Given the description of an element on the screen output the (x, y) to click on. 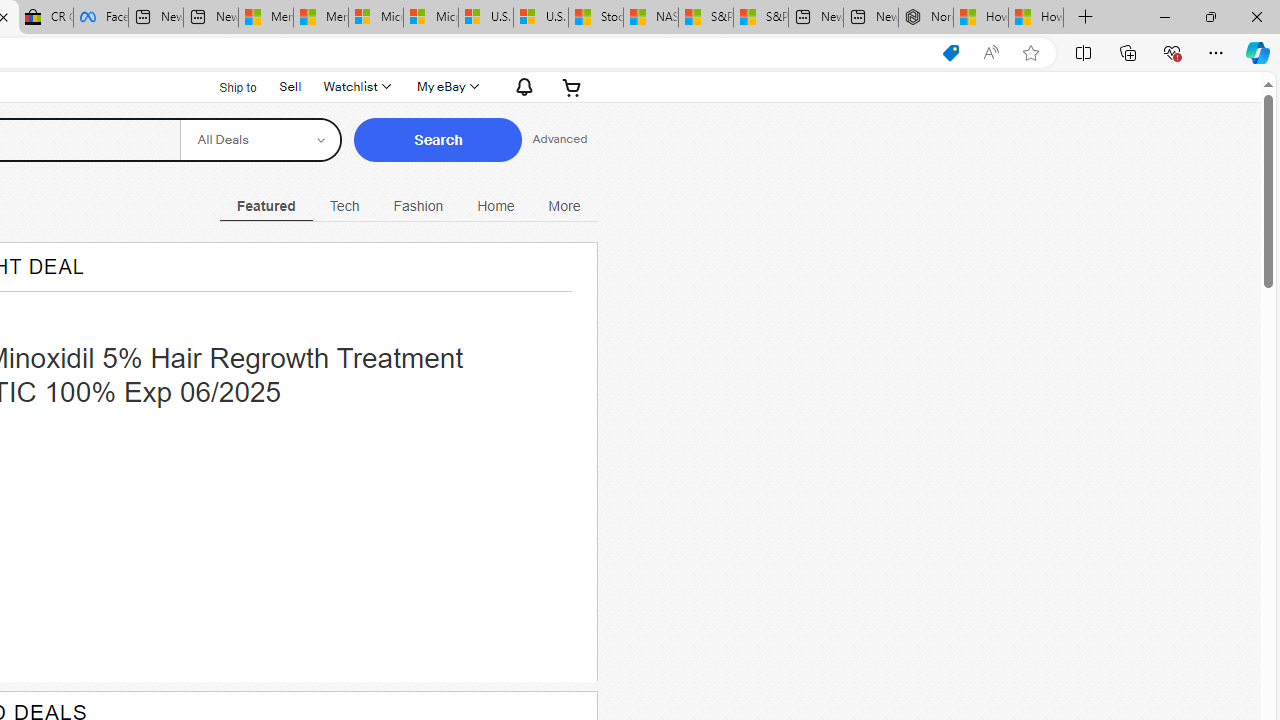
Class: ebayui-refit-nav-ul (407, 203)
My eBay (445, 86)
More (564, 205)
How to Use a Monitor With Your Closed Laptop (1035, 17)
S&P 500, Nasdaq end lower, weighed by Nvidia dip | Watch (760, 17)
WatchlistExpand Watch List (355, 86)
Search (438, 140)
Ship to (225, 85)
Tech (344, 205)
Home (495, 205)
Ship to (225, 87)
This site has coupons! Shopping in Microsoft Edge (950, 53)
Featured Current View (265, 205)
